Given the description of an element on the screen output the (x, y) to click on. 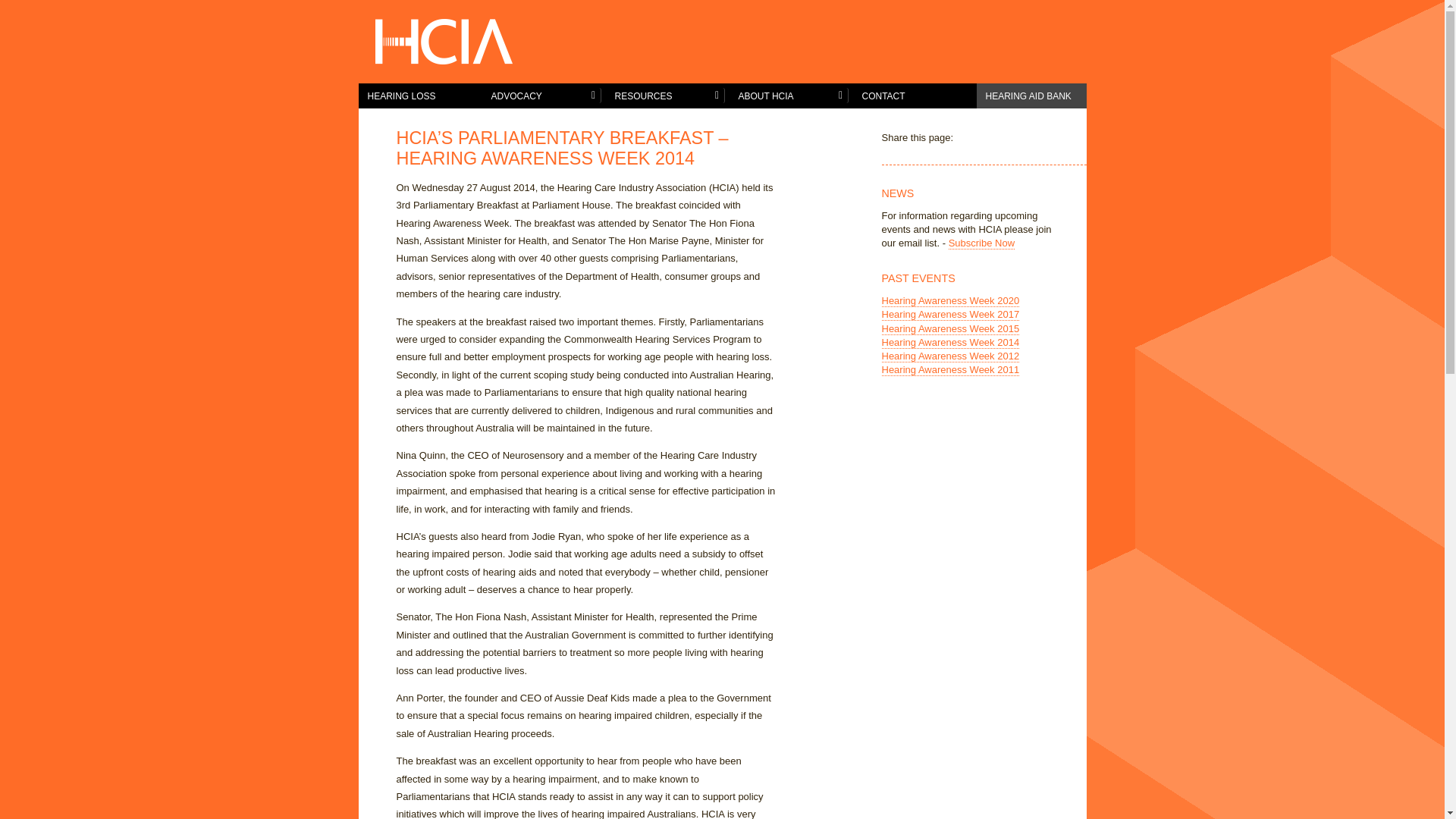
HEARING LOSS Element type: text (419, 95)
Hearing Awareness Week 2011 Element type: text (950, 370)
CONTACT Element type: text (913, 95)
HEARING AID BANK Element type: text (1031, 95)
Hearing Awareness Week 2020 Element type: text (950, 300)
expand child menu Element type: text (840, 95)
ADVOCACY Element type: text (543, 95)
ABOUT HCIA Element type: text (791, 95)
Hearing Awareness Week 2017 Element type: text (950, 314)
Hearing Awareness Week 2015 Element type: text (950, 329)
expand child menu Element type: text (716, 95)
Hearing Awareness Week 2012 Element type: text (950, 356)
Hearing Awareness Week 2014 Element type: text (950, 342)
expand child menu Element type: text (593, 95)
Home Element type: hover (455, 41)
RESOURCES Element type: text (666, 95)
Subscribe Now Element type: text (981, 243)
